Given the description of an element on the screen output the (x, y) to click on. 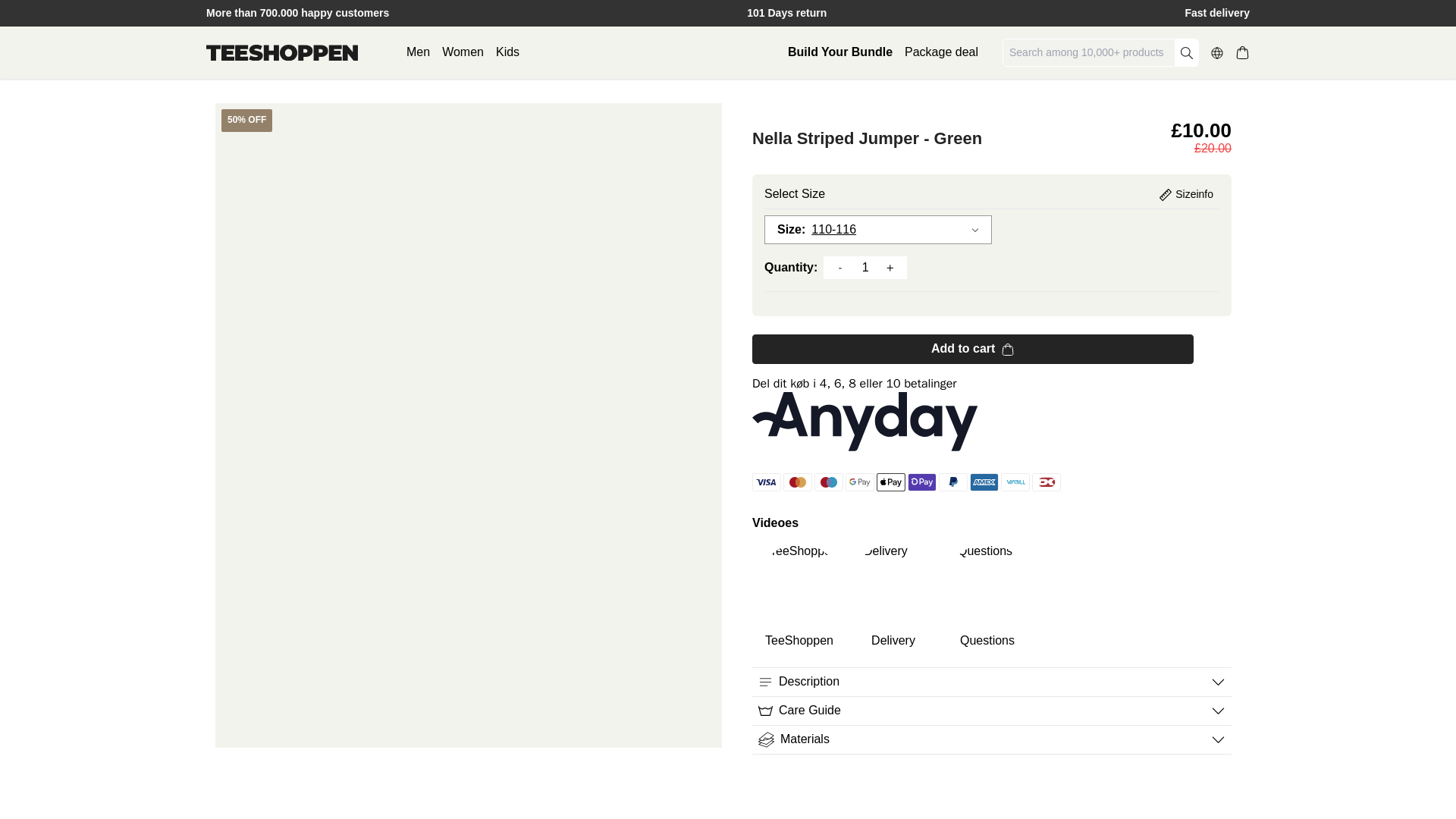
Package deal (941, 51)
Kids (507, 51)
Build Your Bundle (839, 51)
Women (462, 51)
Men (417, 51)
